Given the description of an element on the screen output the (x, y) to click on. 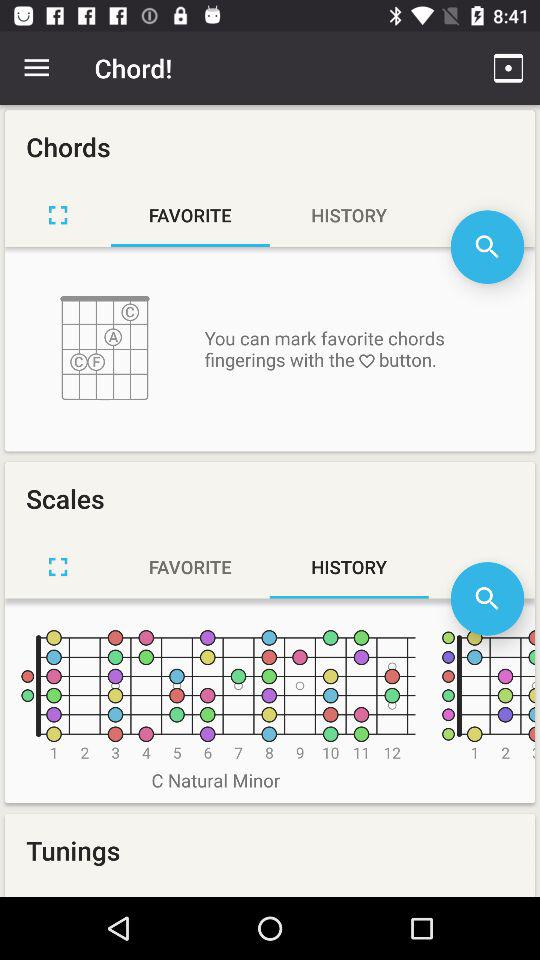
new scale (58, 566)
